Given the description of an element on the screen output the (x, y) to click on. 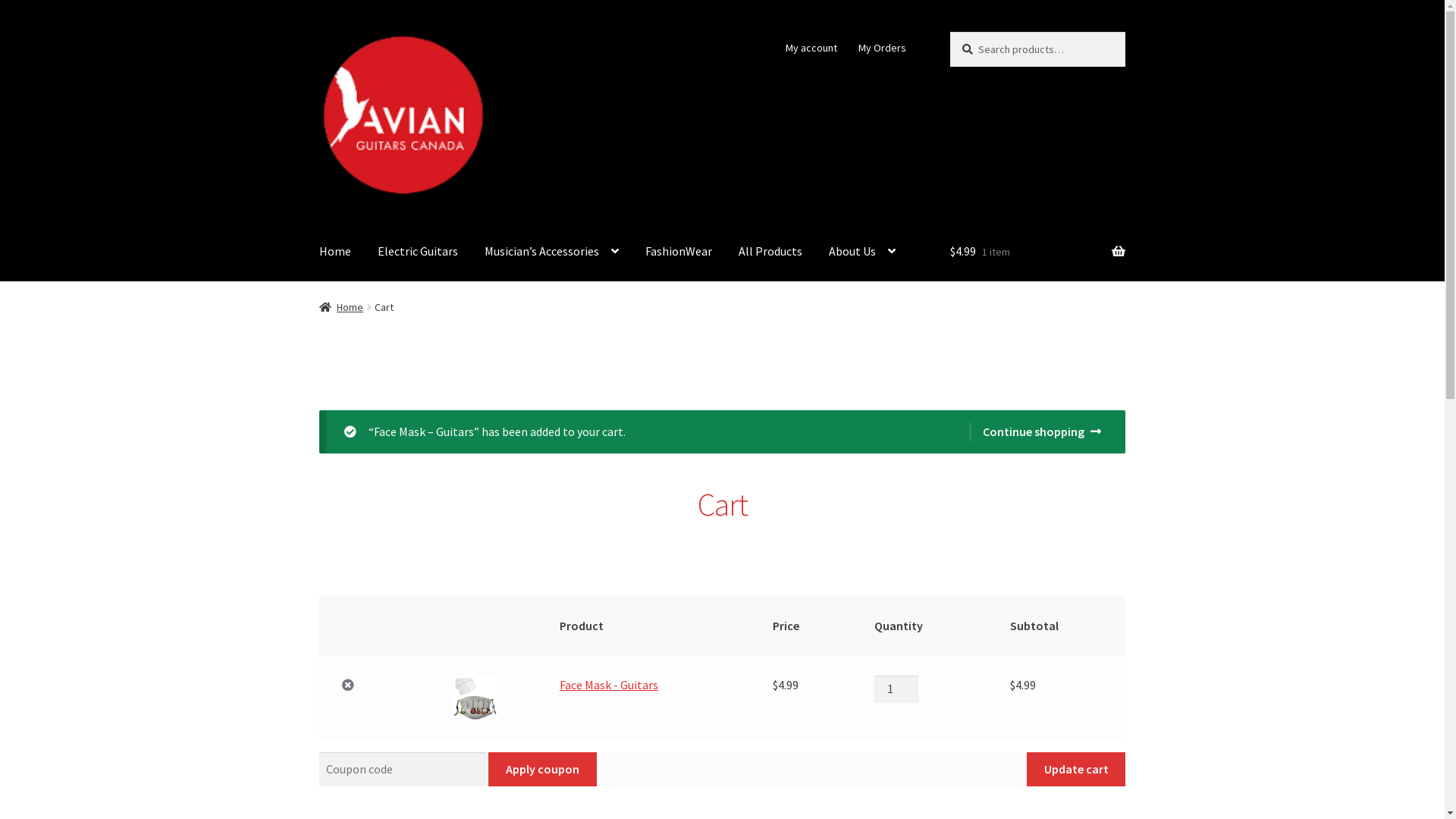
Search Element type: text (949, 31)
My account Element type: text (811, 47)
$4.99 1 item Element type: text (1037, 251)
Home Element type: text (335, 251)
FashionWear Element type: text (678, 251)
All Products Element type: text (770, 251)
My Orders Element type: text (881, 47)
Update cart Element type: text (1075, 769)
Home Element type: text (341, 306)
Continue shopping Element type: text (1035, 432)
Apply coupon Element type: text (542, 769)
About Us Element type: text (861, 251)
Face Mask - Guitars Element type: text (608, 684)
Electric Guitars Element type: text (417, 251)
Skip to navigation Element type: text (318, 31)
